Given the description of an element on the screen output the (x, y) to click on. 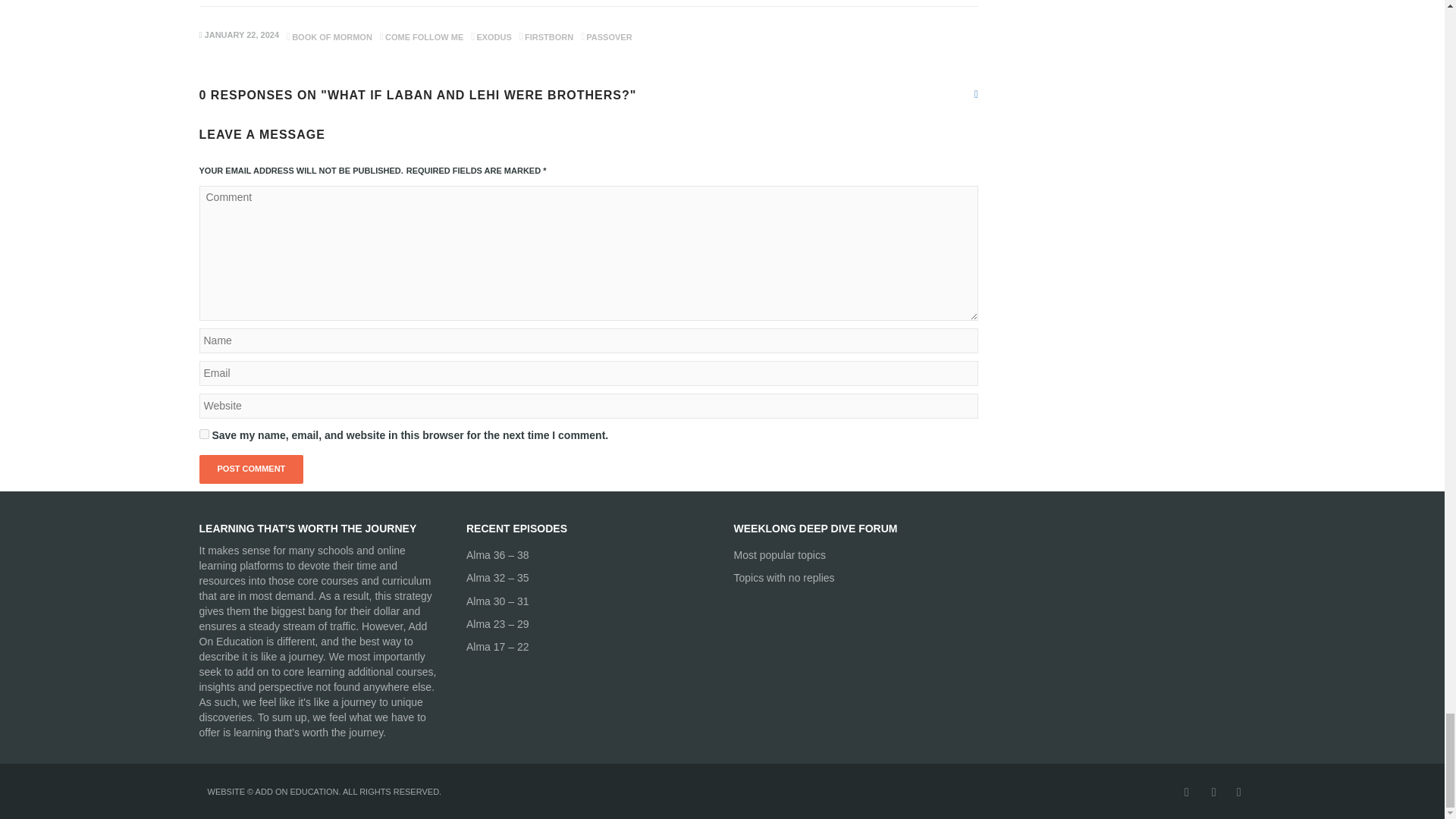
yes (203, 433)
Post Comment (250, 469)
